Given the description of an element on the screen output the (x, y) to click on. 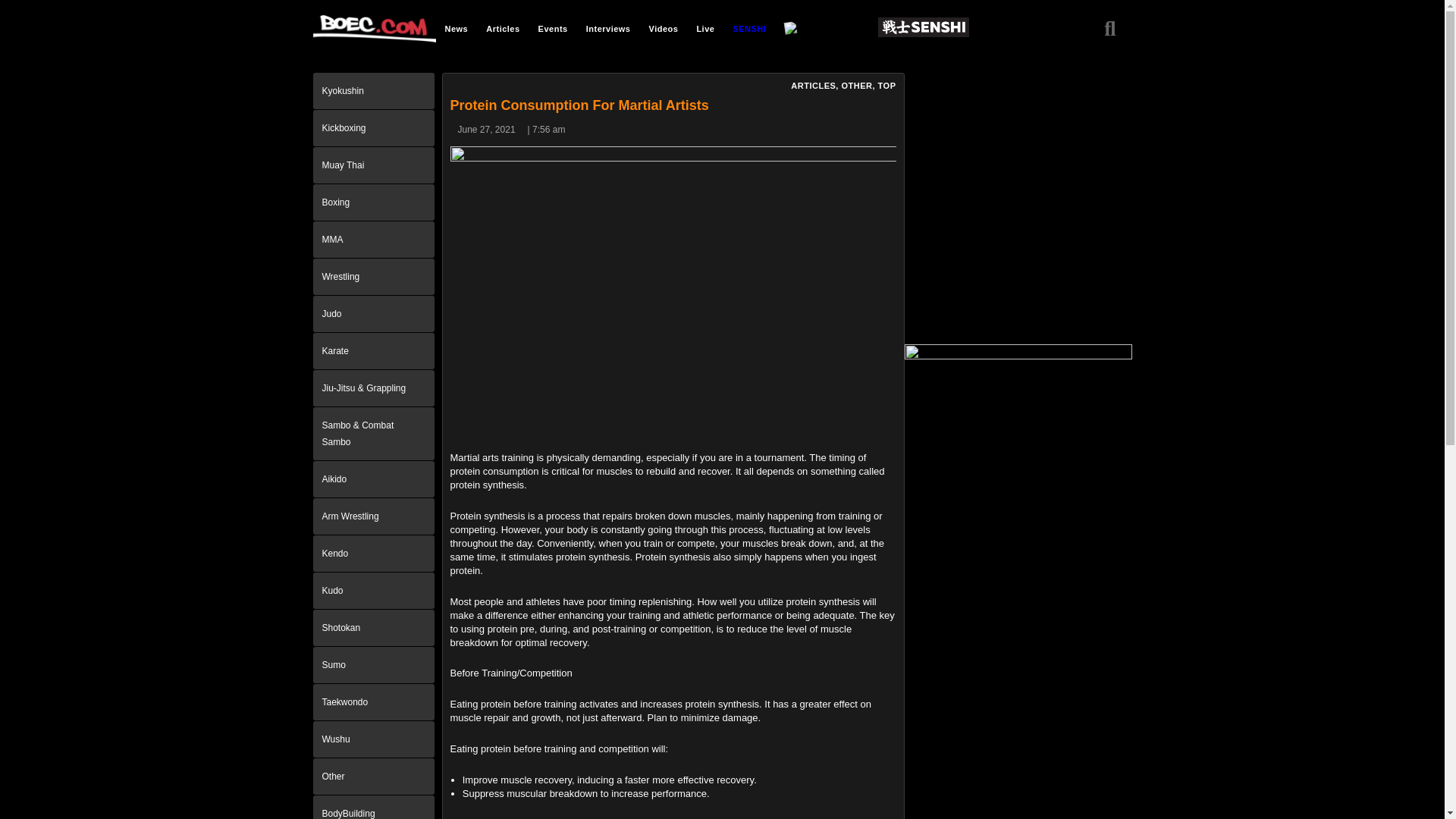
Videos (663, 28)
News (456, 28)
SENSHI (748, 28)
Interviews (608, 28)
Articles (502, 28)
Events (552, 28)
